Given the description of an element on the screen output the (x, y) to click on. 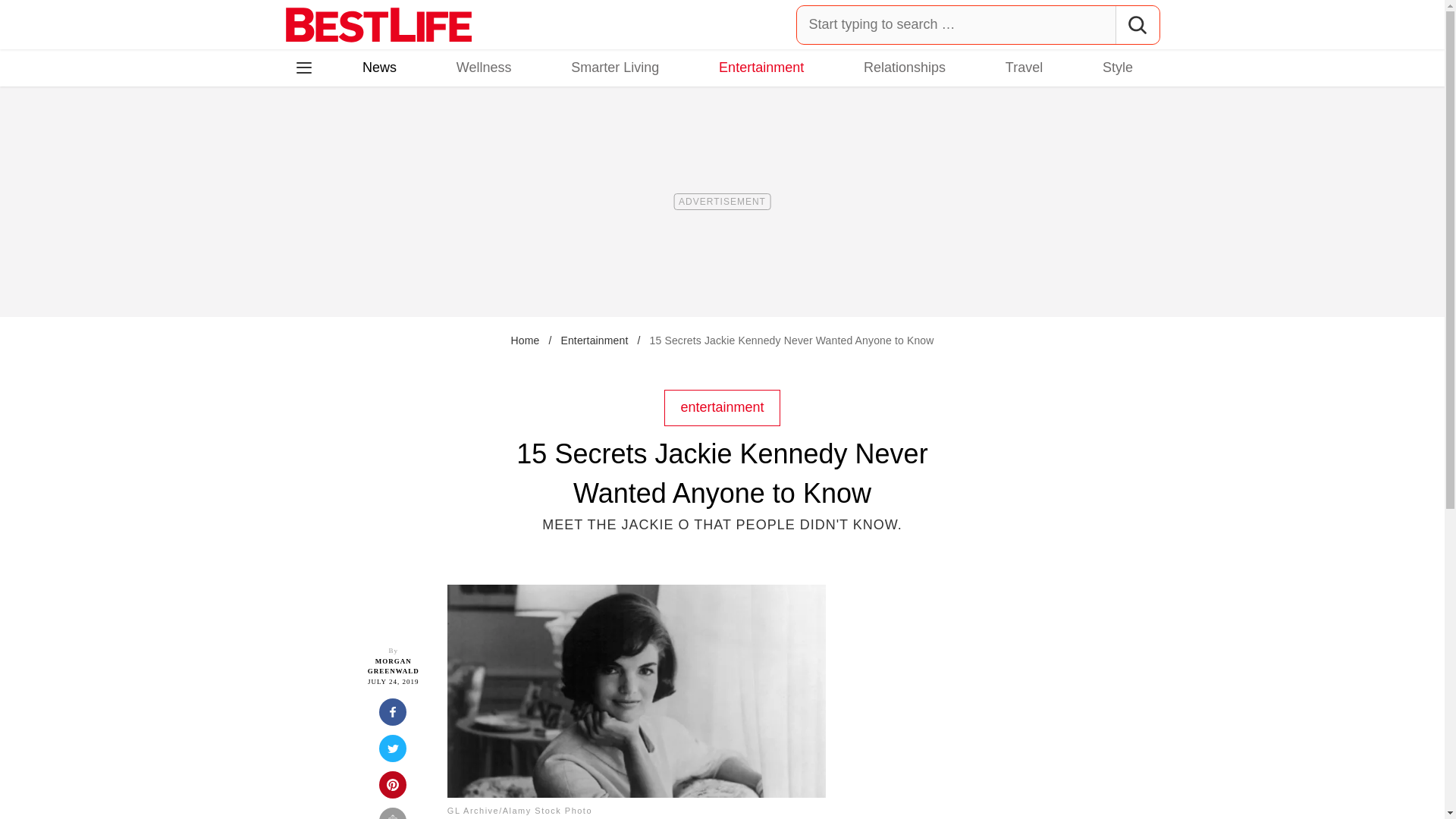
Share on Facebook (392, 716)
Relationships (904, 66)
Smarter Living (614, 66)
Share on Twitter (392, 752)
Best Life Homepage (378, 23)
Facebook (314, 133)
Style (1117, 66)
Entertainment (593, 340)
Entertainment (761, 66)
Instagram (357, 133)
Home (524, 340)
Type and press Enter to search (978, 24)
MORGAN GREENWALD (393, 666)
Share via email (392, 813)
entertainment (720, 406)
